Given the description of an element on the screen output the (x, y) to click on. 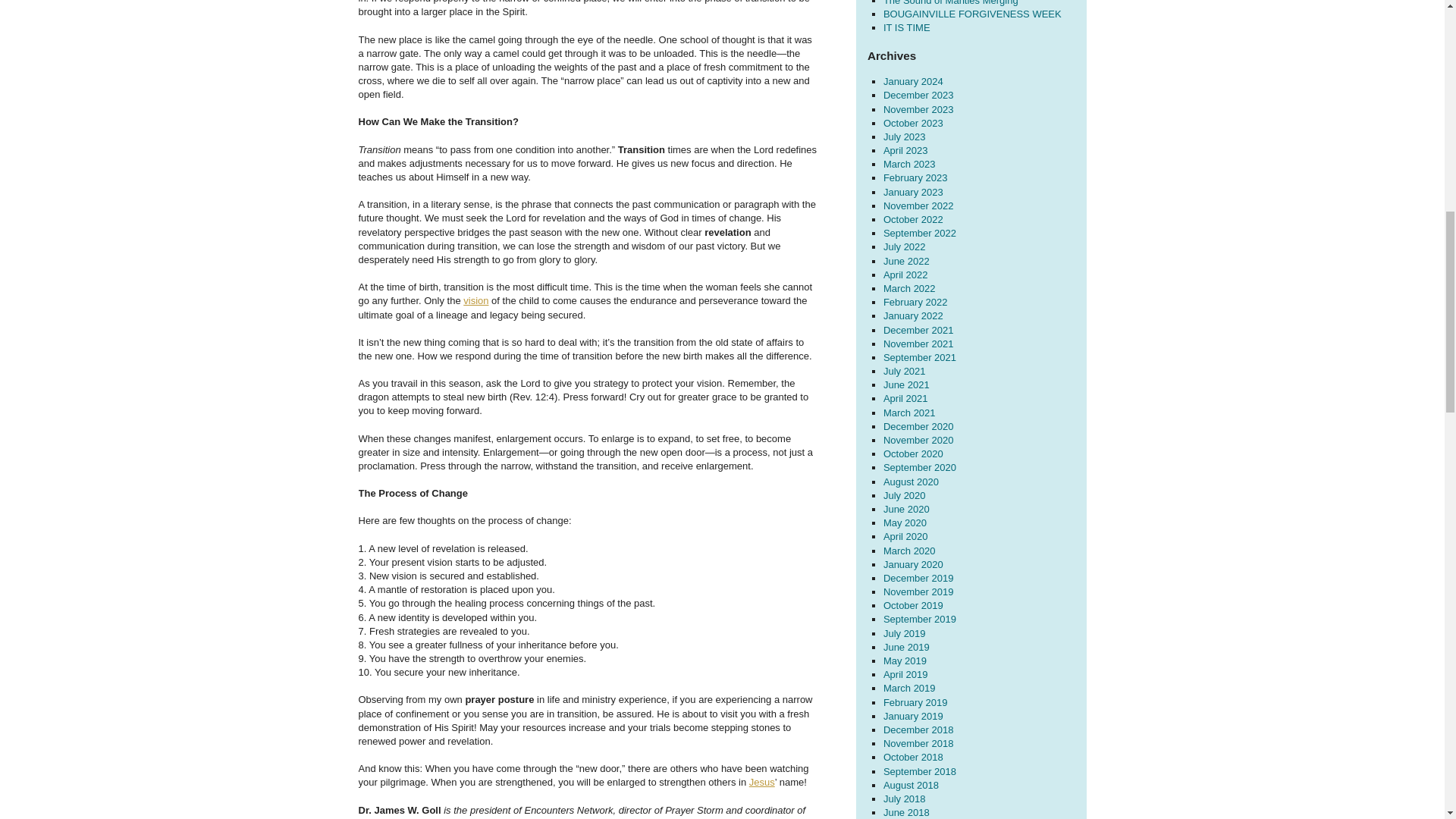
BOUGAINVILLE FORGIVENESS WEEK (972, 13)
November 2022 (918, 205)
March 2023 (909, 163)
October 2022 (913, 219)
January 2023 (913, 192)
July 2023 (904, 136)
February 2023 (915, 177)
September 2022 (919, 233)
October 2023 (913, 122)
December 2023 (918, 94)
IT IS TIME (906, 27)
The Sound of Mantles Merging (950, 2)
November 2023 (918, 109)
July 2022 (904, 246)
January 2024 (913, 81)
